Given the description of an element on the screen output the (x, y) to click on. 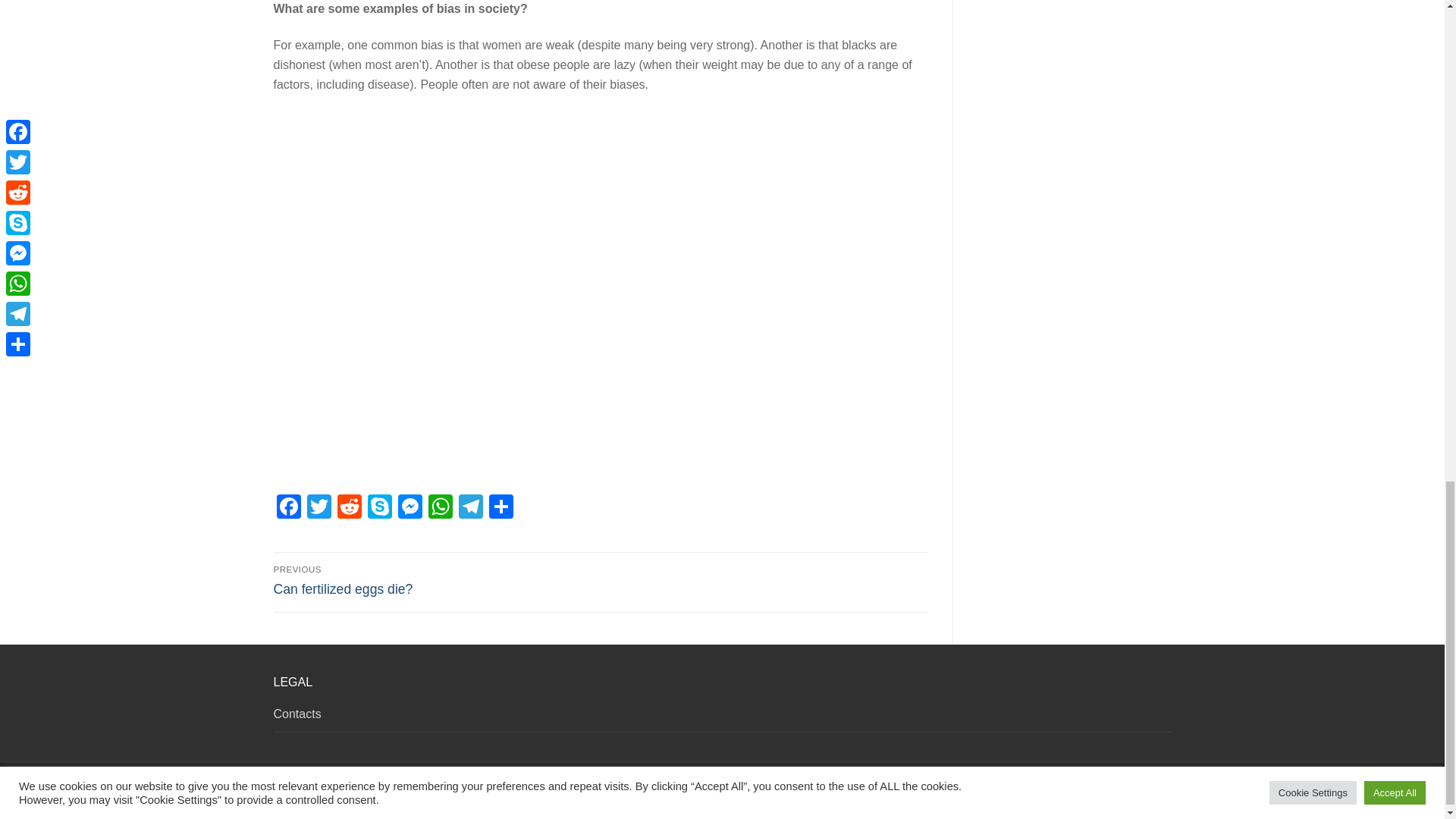
Telegram (469, 508)
Reddit (348, 508)
Reddit (348, 508)
Facebook (287, 508)
Telegram (469, 508)
Share (499, 508)
Twitter (317, 508)
Twitter (317, 508)
Skype (379, 508)
Facebook (287, 508)
Skype (379, 508)
WhatsApp (439, 508)
WhatsApp (439, 508)
Messenger (409, 508)
